Given the description of an element on the screen output the (x, y) to click on. 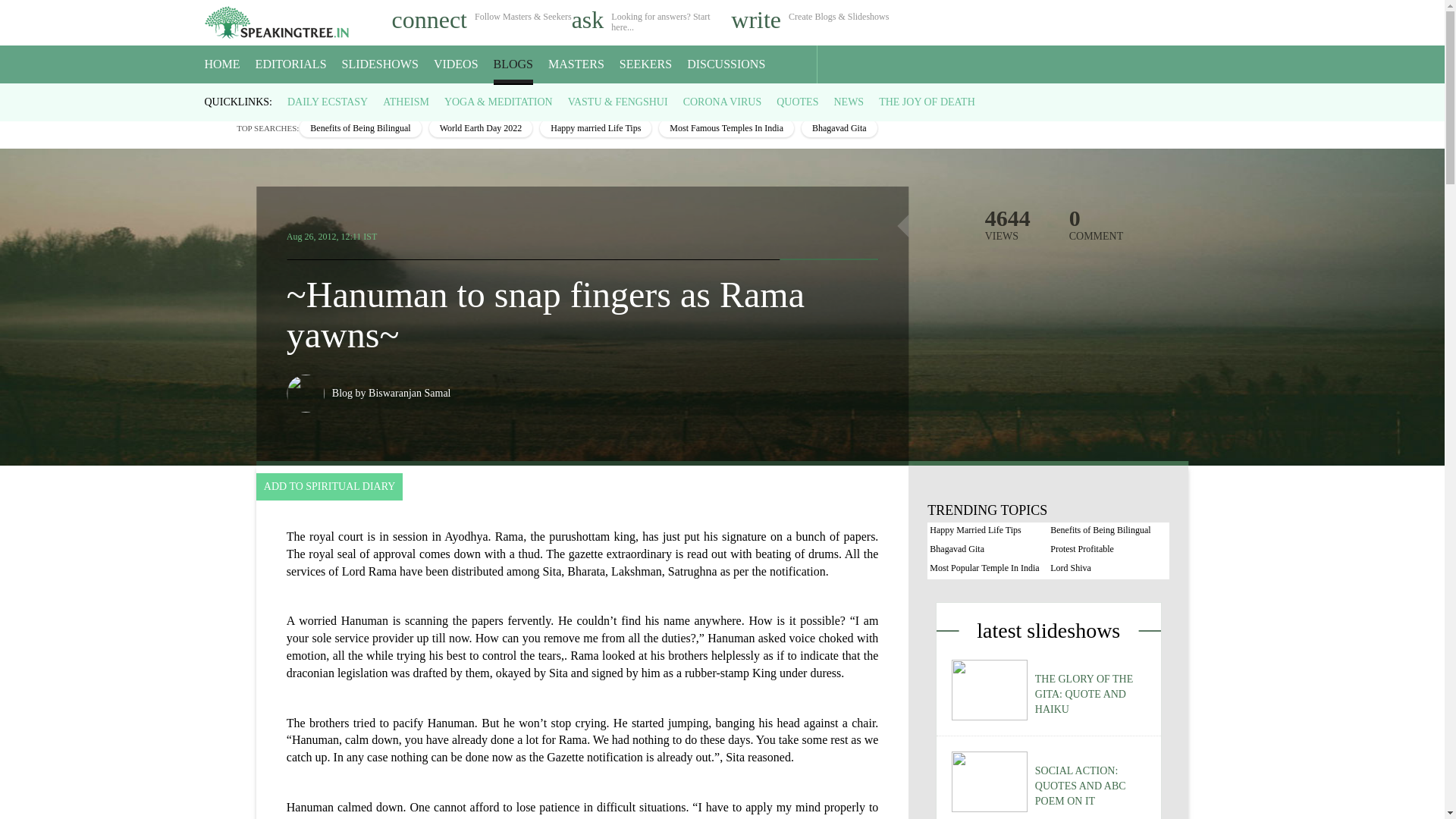
VIDEOS (456, 64)
ATHEISM (405, 101)
QUOTES (797, 101)
Share on Facebook (796, 231)
HOME (222, 64)
THE JOY OF DEATH (927, 101)
Share on LinkedIn (860, 231)
BLOGS (512, 64)
DISCUSSIONS (726, 64)
Speaking Tree (216, 96)
